Given the description of an element on the screen output the (x, y) to click on. 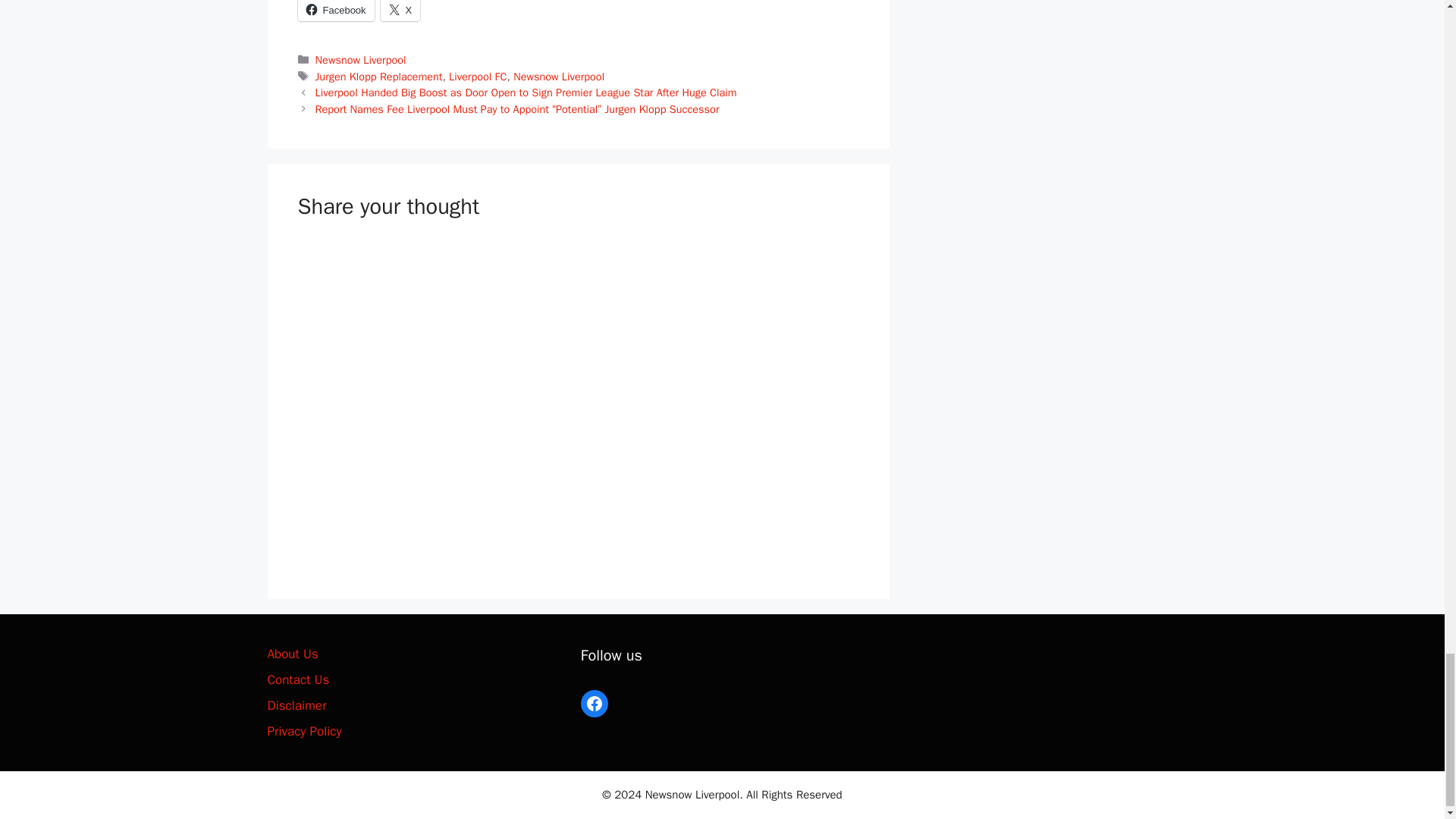
Facebook (335, 10)
Click to share on Facebook (335, 10)
Newsnow Liverpool (360, 59)
Click to share on X (400, 10)
Newsnow Liverpool (558, 76)
X (400, 10)
Jurgen Klopp Replacement (378, 76)
Liverpool FC (477, 76)
